Given the description of an element on the screen output the (x, y) to click on. 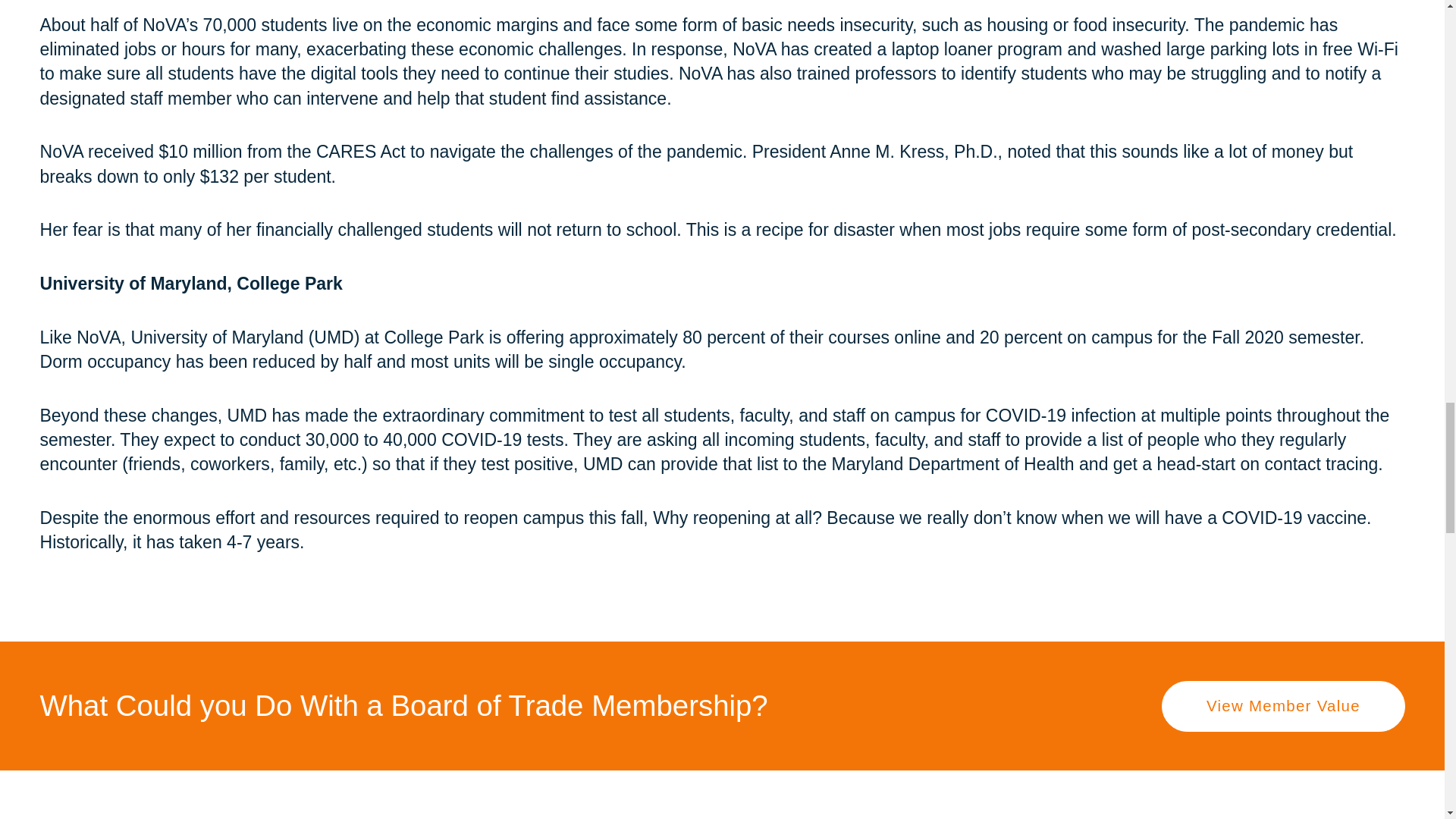
View Member Value (1283, 706)
